Given the description of an element on the screen output the (x, y) to click on. 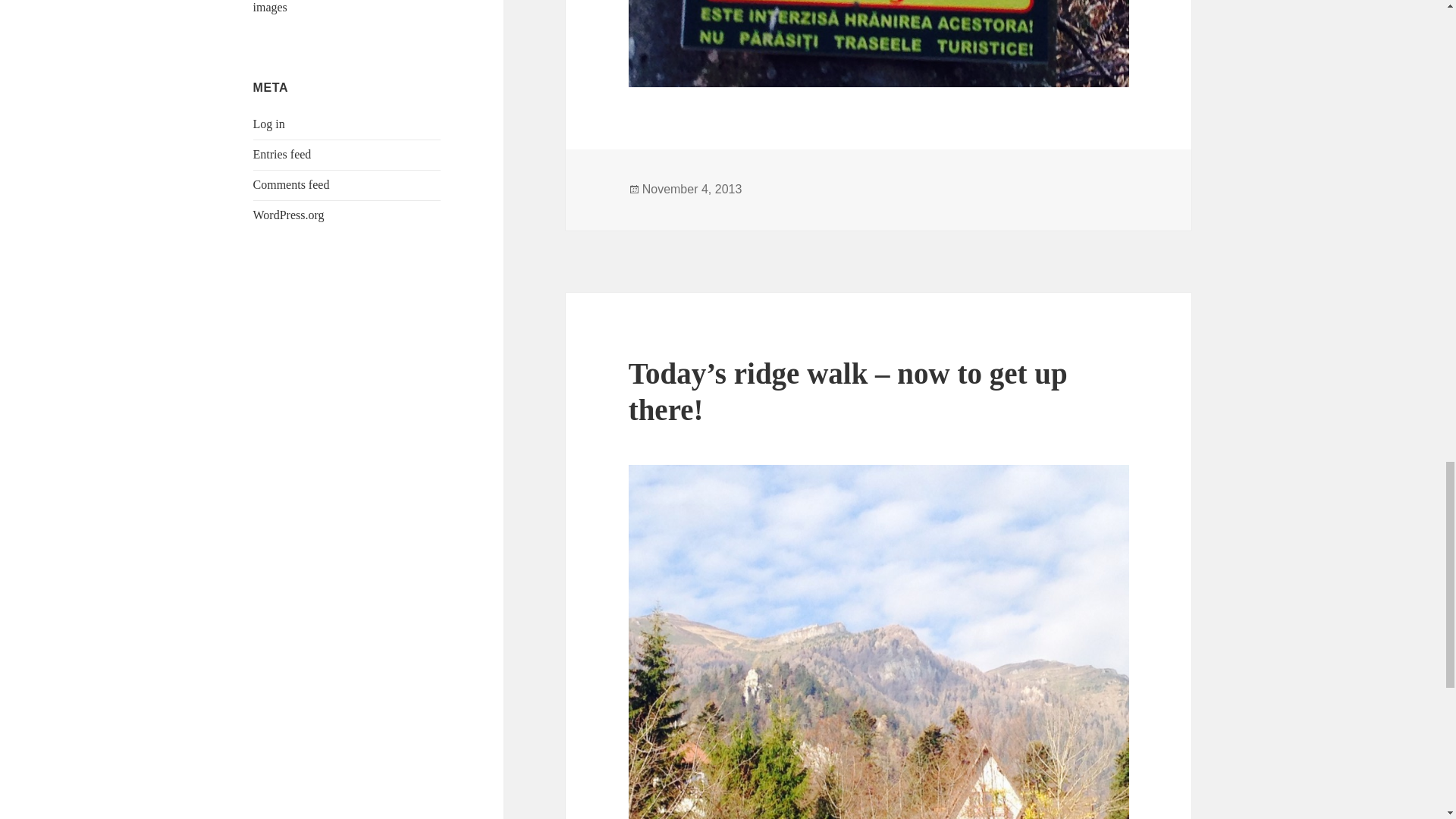
Entries feed (282, 154)
photo2-jpg (878, 43)
images (269, 6)
Comments feed (291, 184)
Log in (269, 123)
